Given the description of an element on the screen output the (x, y) to click on. 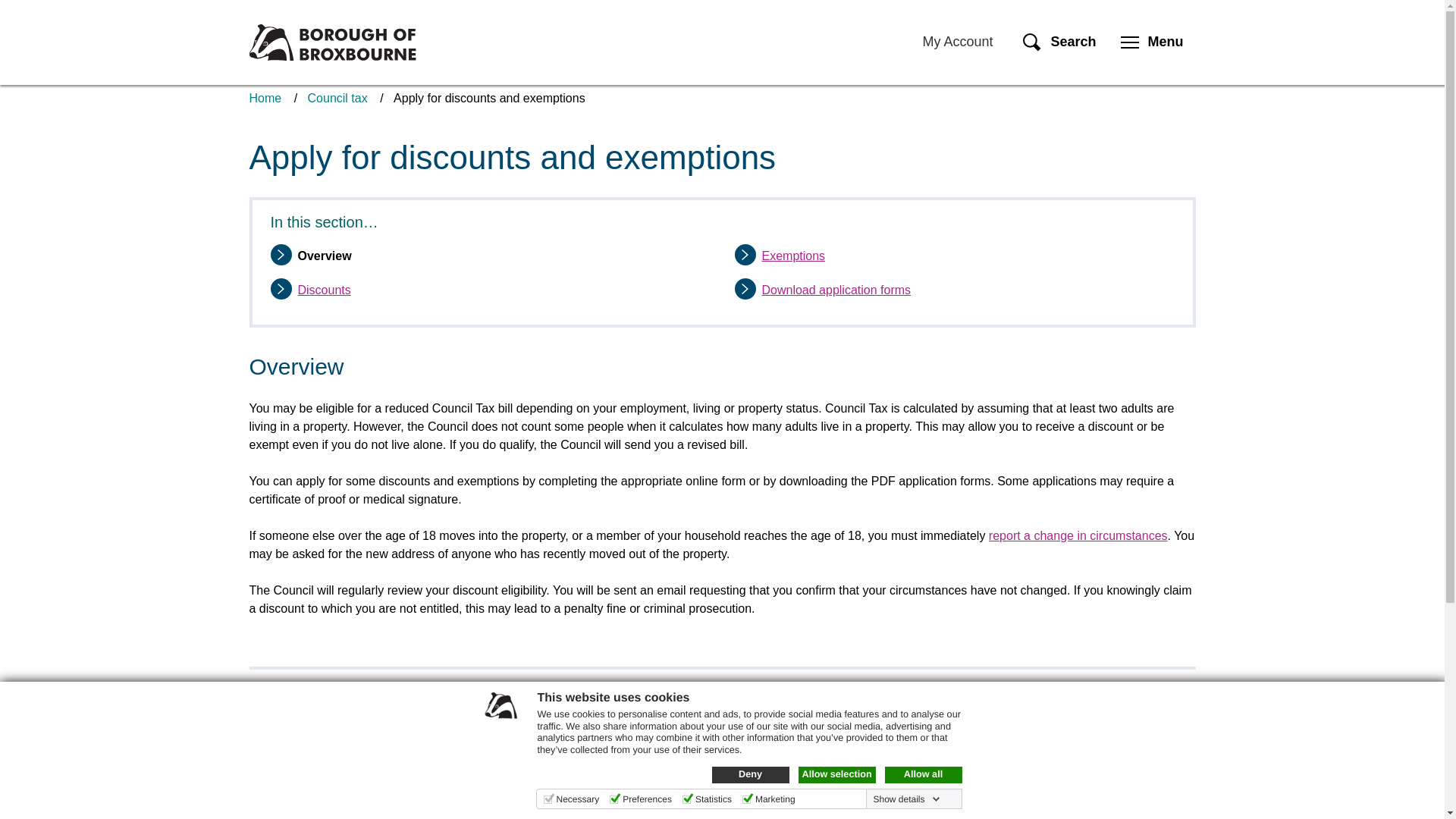
Allow selection (836, 774)
Deny (750, 774)
Allow all (921, 774)
Show details (905, 799)
